Given the description of an element on the screen output the (x, y) to click on. 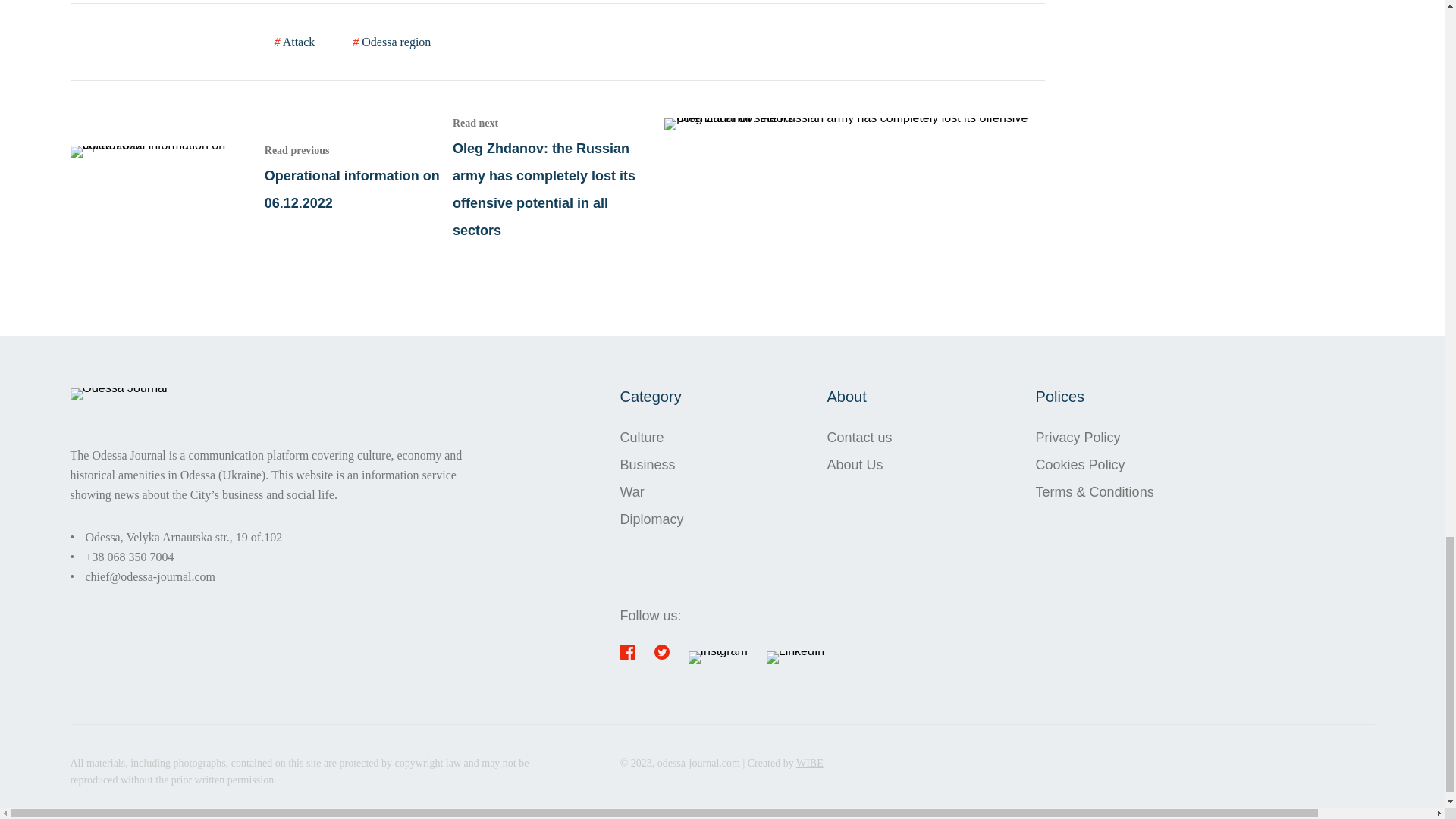
Culture (652, 437)
Attack (295, 41)
Odessa region (391, 41)
About Us (859, 464)
Privacy Policy (260, 177)
Odessa, Velyka Arnautska str., 19 of.102 (1094, 437)
Read (183, 536)
War (260, 177)
Read (652, 492)
